Given the description of an element on the screen output the (x, y) to click on. 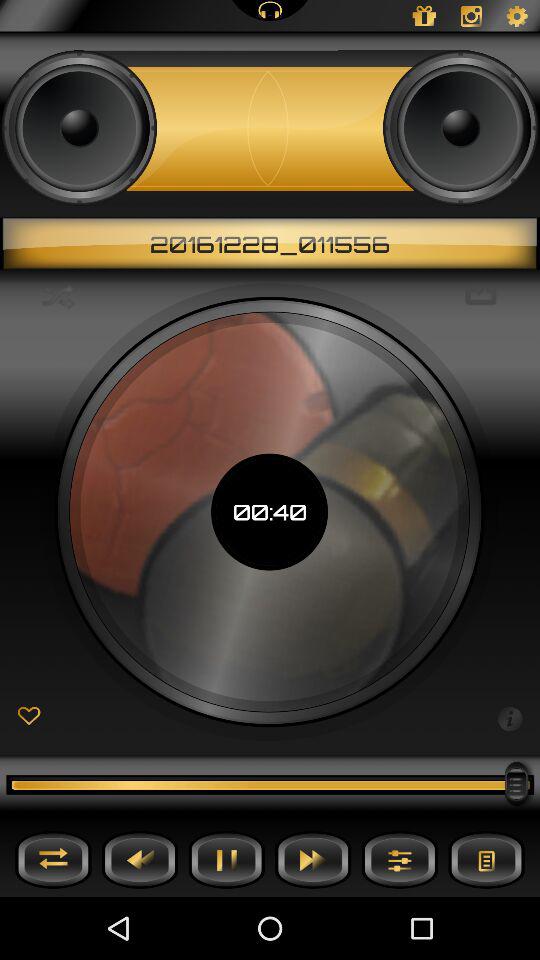
show information (509, 717)
